Given the description of an element on the screen output the (x, y) to click on. 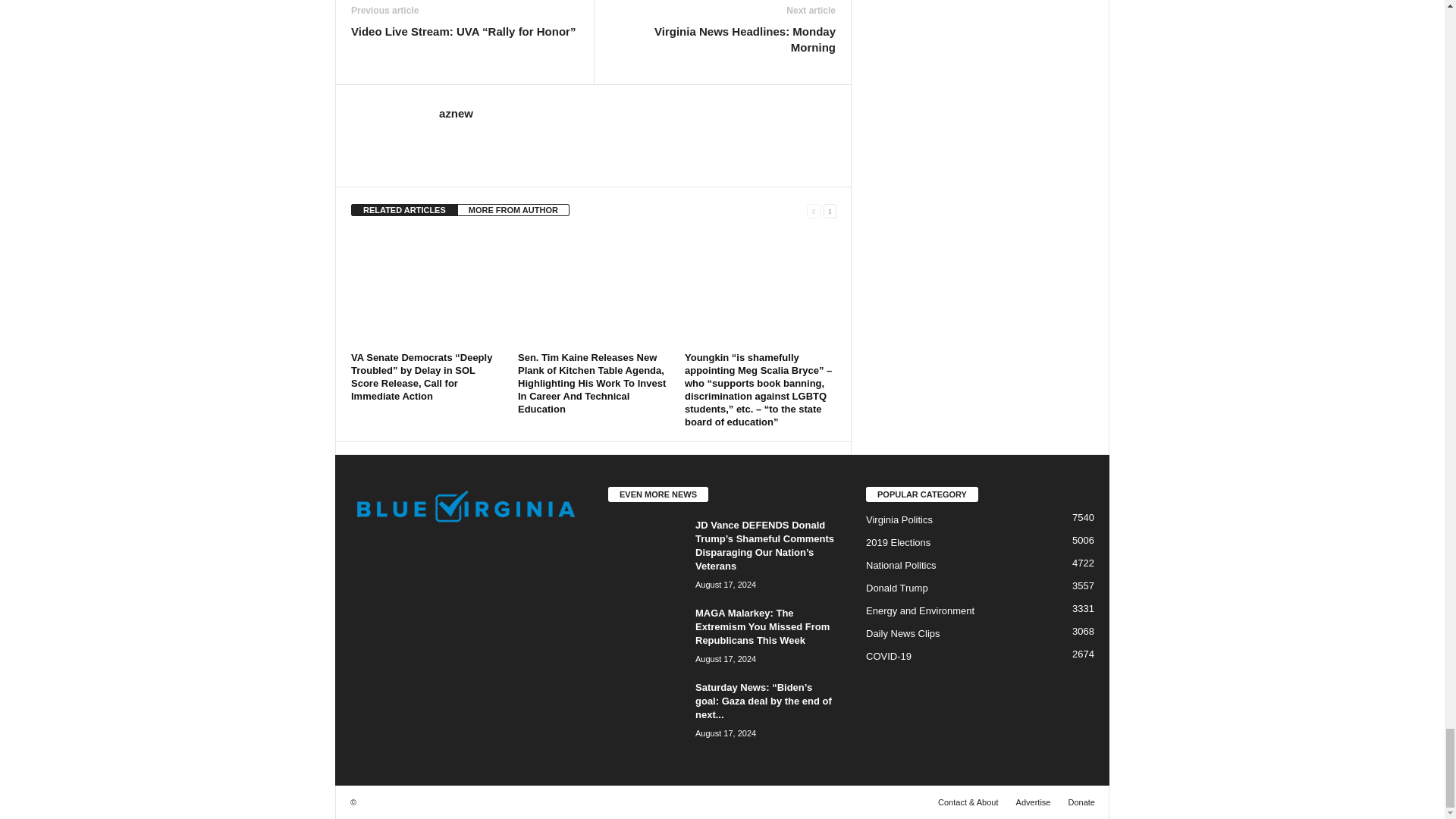
aznew (456, 113)
MORE FROM AUTHOR (513, 209)
Virginia News Headlines: Monday Morning (721, 39)
RELATED ARTICLES (404, 209)
